Given the description of an element on the screen output the (x, y) to click on. 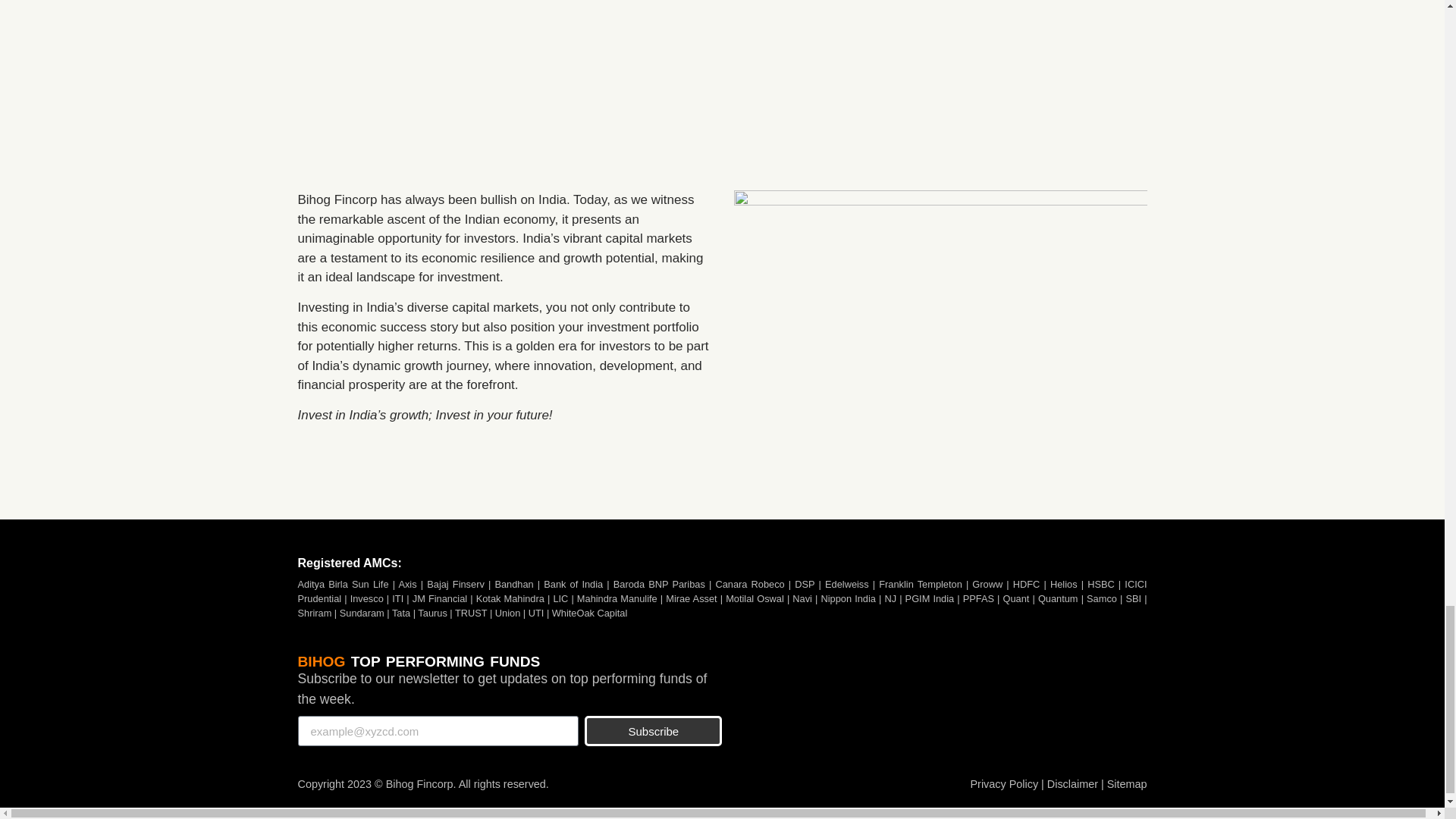
Subscribe (653, 730)
